Given the description of an element on the screen output the (x, y) to click on. 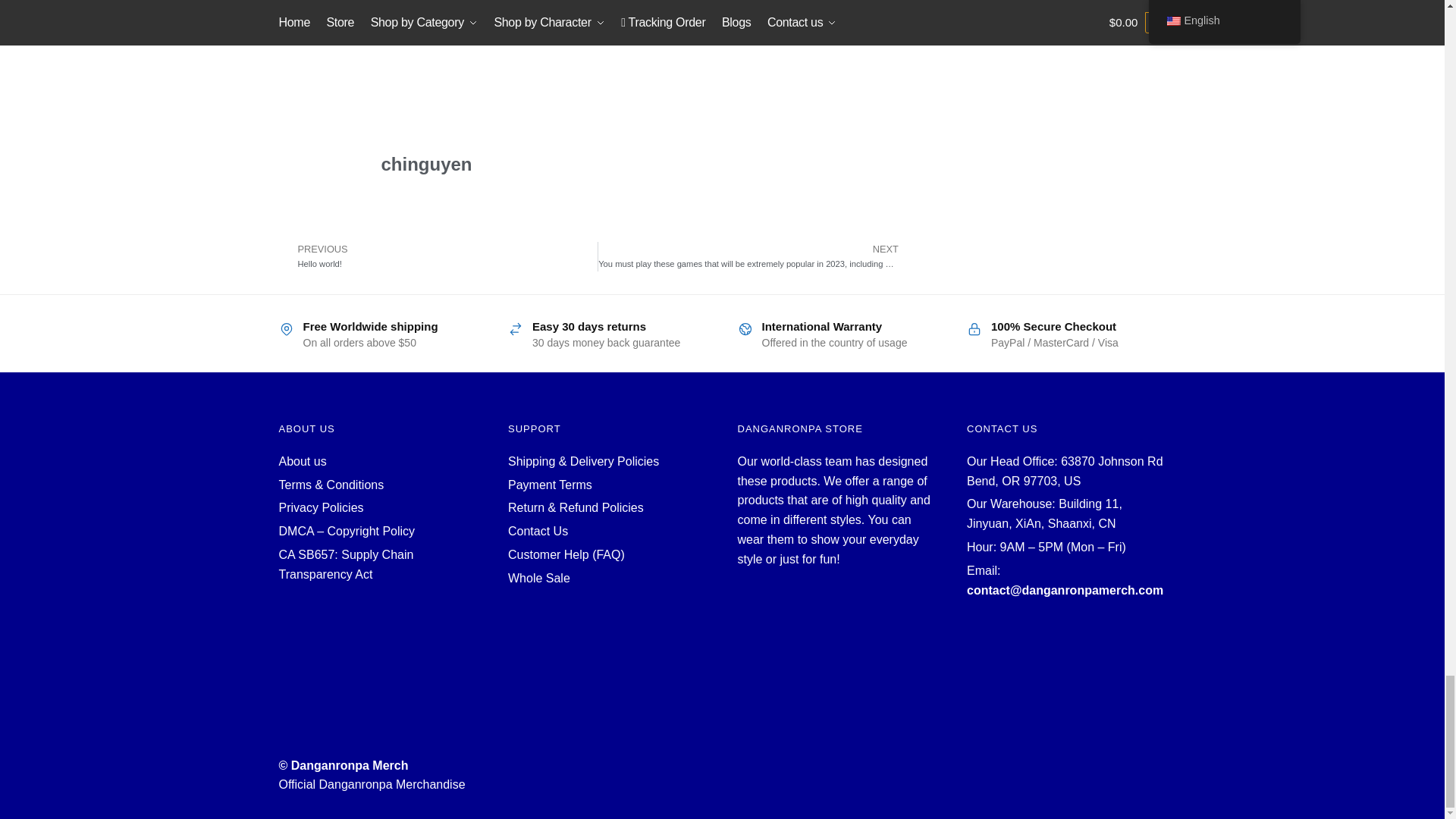
DMCA.com Protection Status (379, 644)
